Given the description of an element on the screen output the (x, y) to click on. 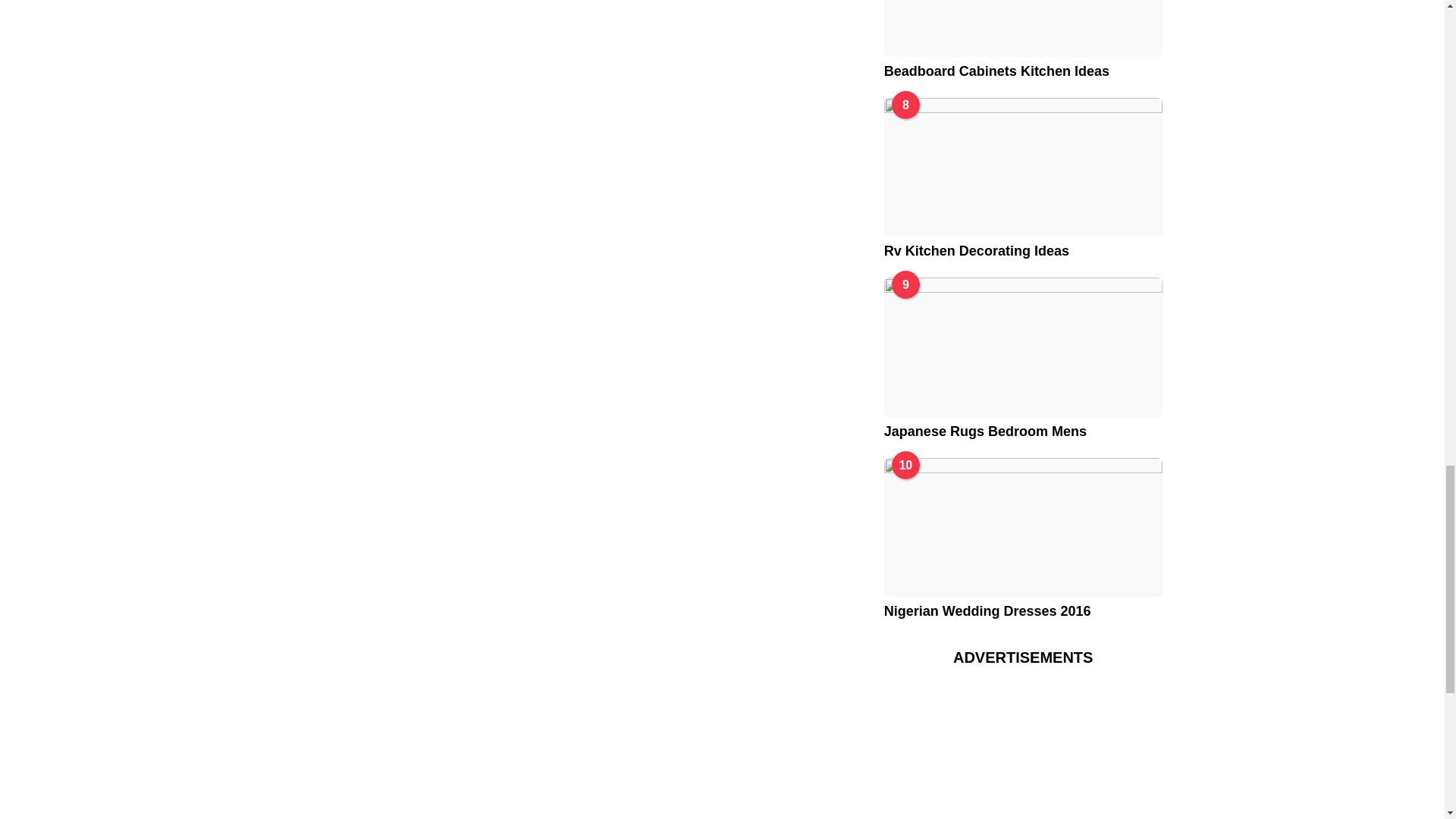
Nigerian Wedding Dresses 2016 (1022, 527)
Japanese Rugs Bedroom Mens (1022, 346)
Rv Kitchen Decorating Ideas (1022, 166)
Beadboard Cabinets Kitchen Ideas (1022, 28)
